Given the description of an element on the screen output the (x, y) to click on. 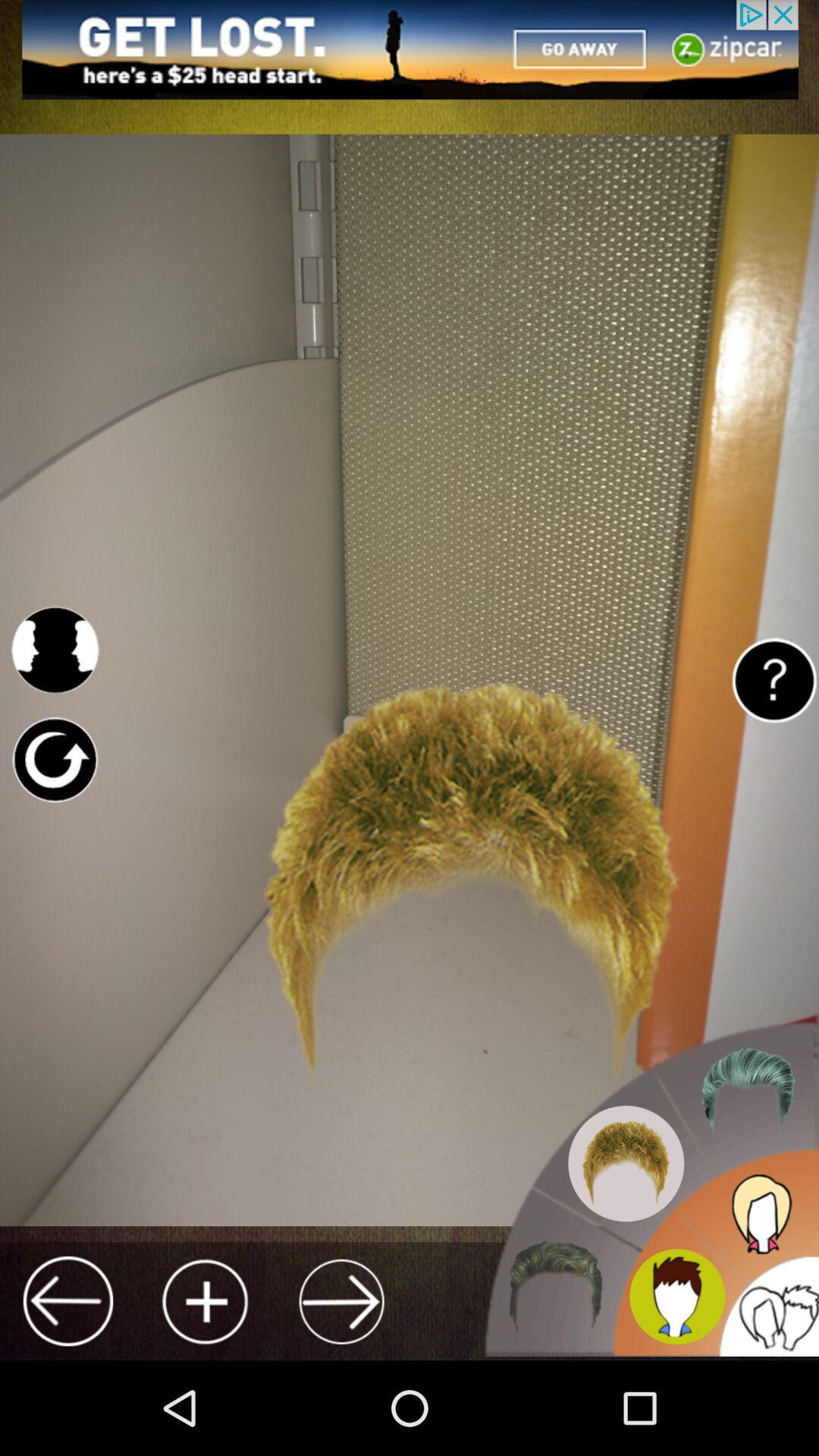
add button plus (204, 1301)
